Given the description of an element on the screen output the (x, y) to click on. 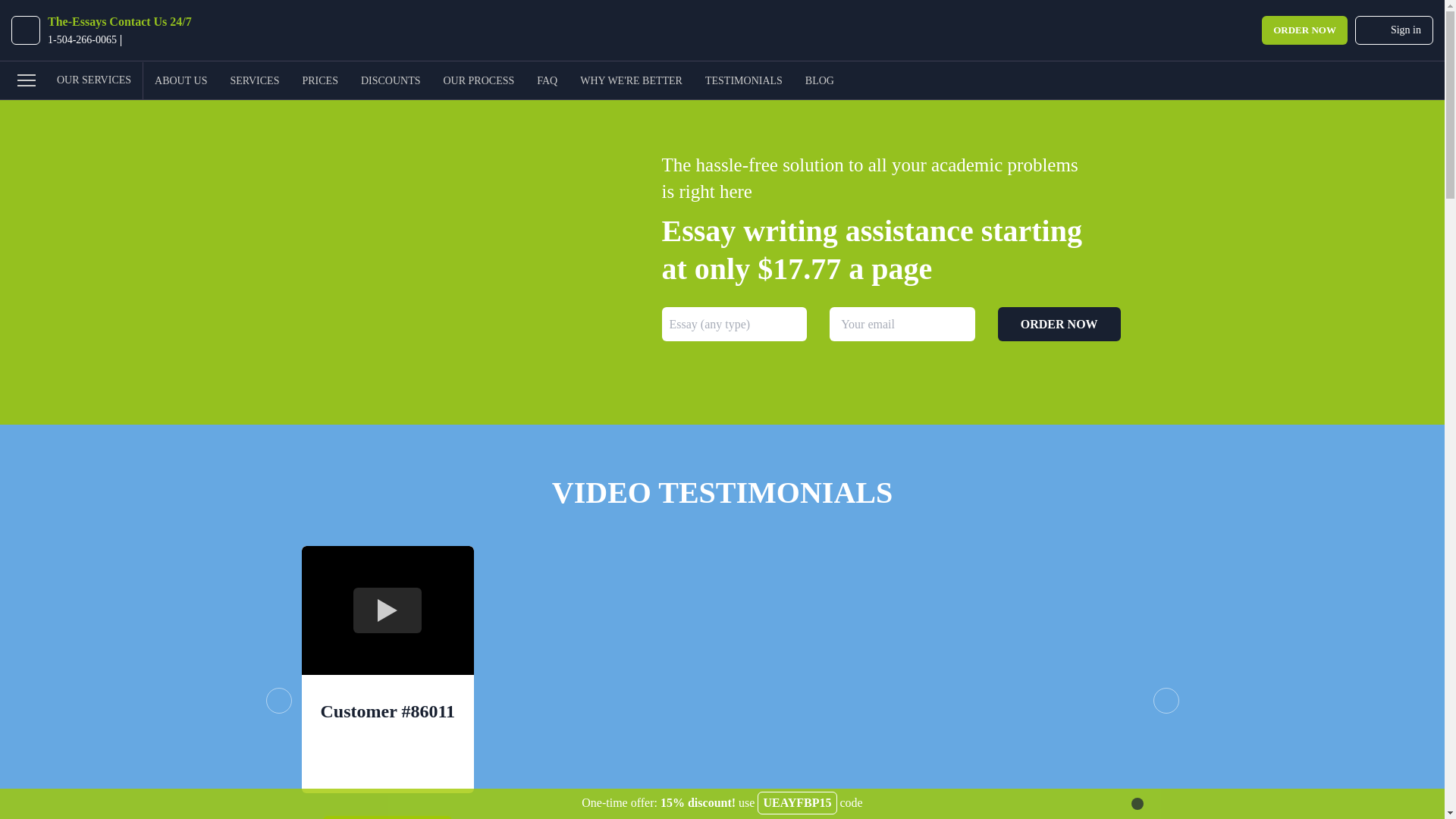
Sign in (1393, 30)
BLOG (819, 80)
WHY WE'RE BETTER (630, 80)
ABOUT US (180, 80)
FAQ (547, 80)
PRICES (319, 80)
1-504-266-0065 (82, 40)
ORDER NOW (1305, 30)
SERVICES (254, 80)
OUR PROCESS (477, 80)
OUR SERVICES (71, 80)
TESTIMONIALS (743, 80)
DISCOUNTS (390, 80)
